Given the description of an element on the screen output the (x, y) to click on. 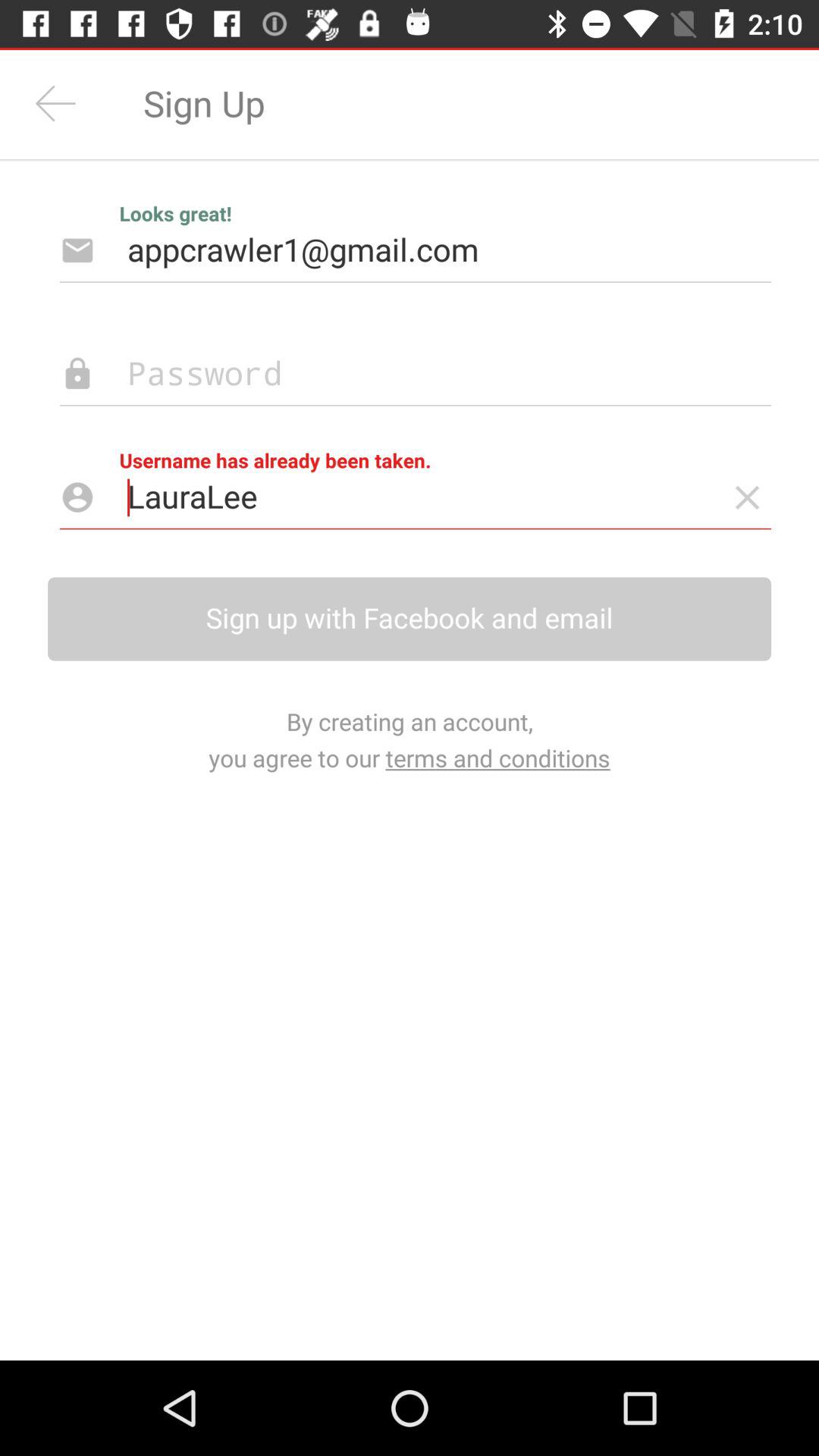
usename has already beed taken (747, 497)
